Given the description of an element on the screen output the (x, y) to click on. 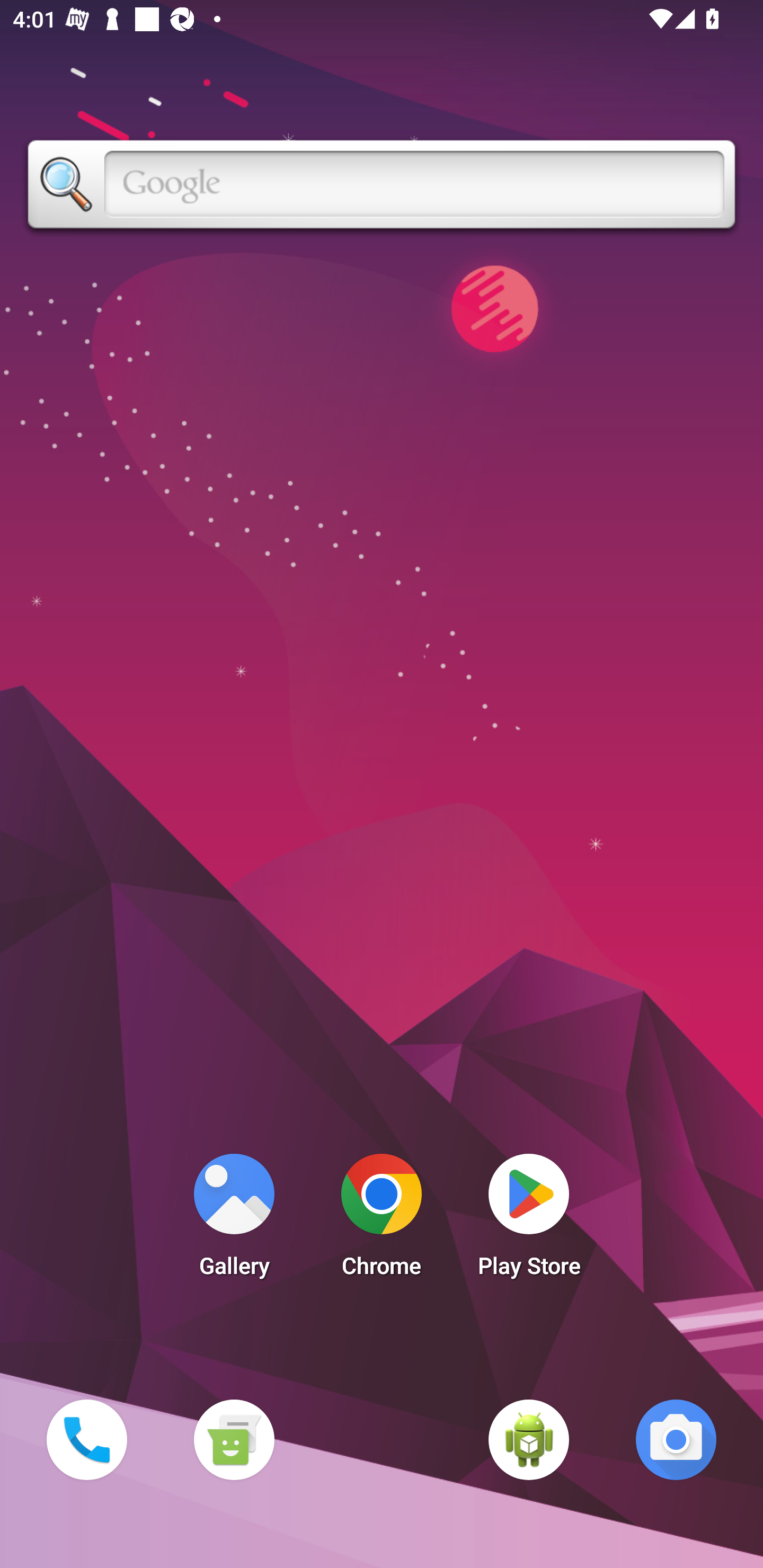
Gallery (233, 1220)
Chrome (381, 1220)
Play Store (528, 1220)
Phone (86, 1439)
Messaging (233, 1439)
WebView Browser Tester (528, 1439)
Camera (676, 1439)
